Given the description of an element on the screen output the (x, y) to click on. 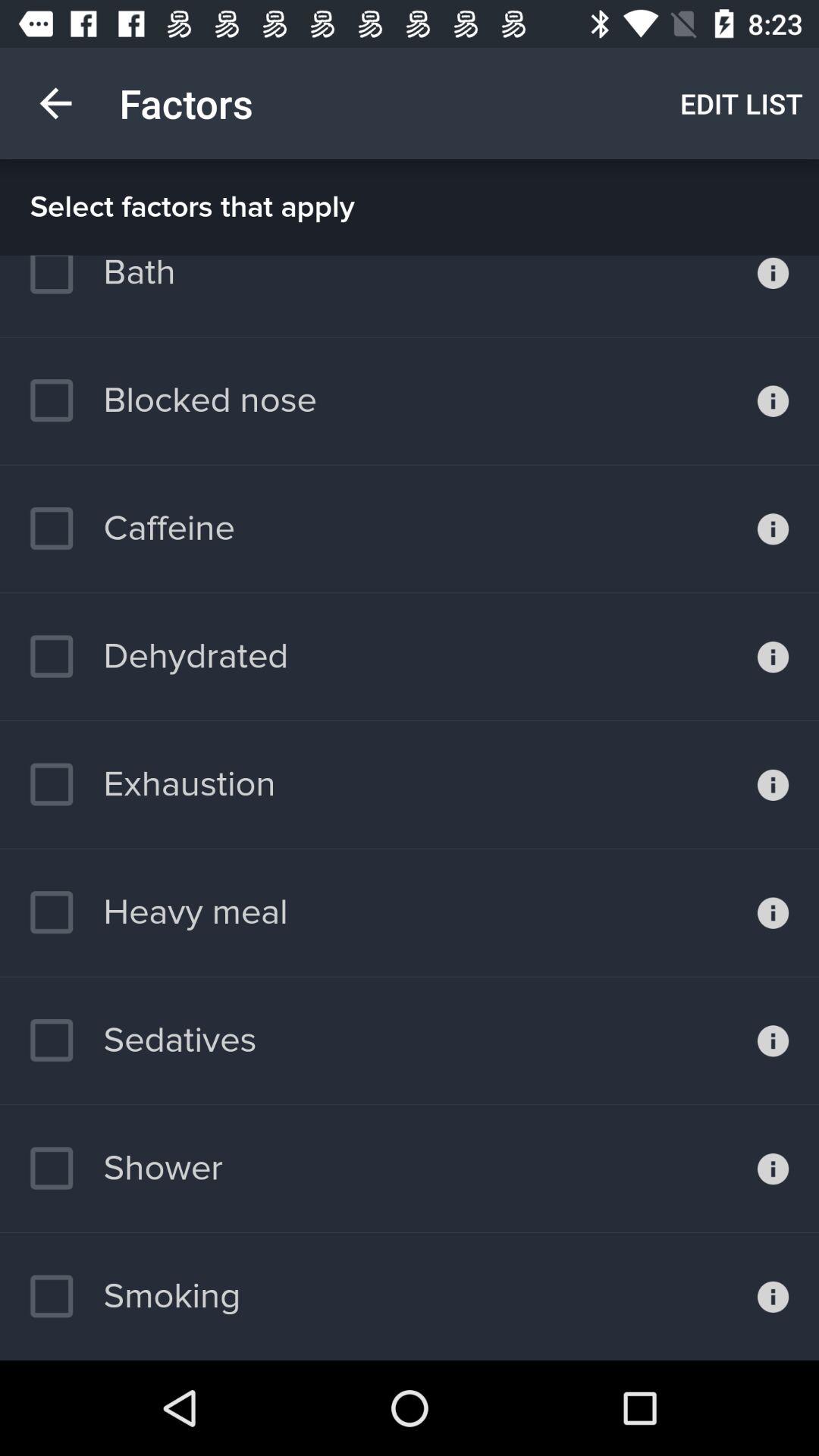
launch item next to factors (55, 103)
